Given the description of an element on the screen output the (x, y) to click on. 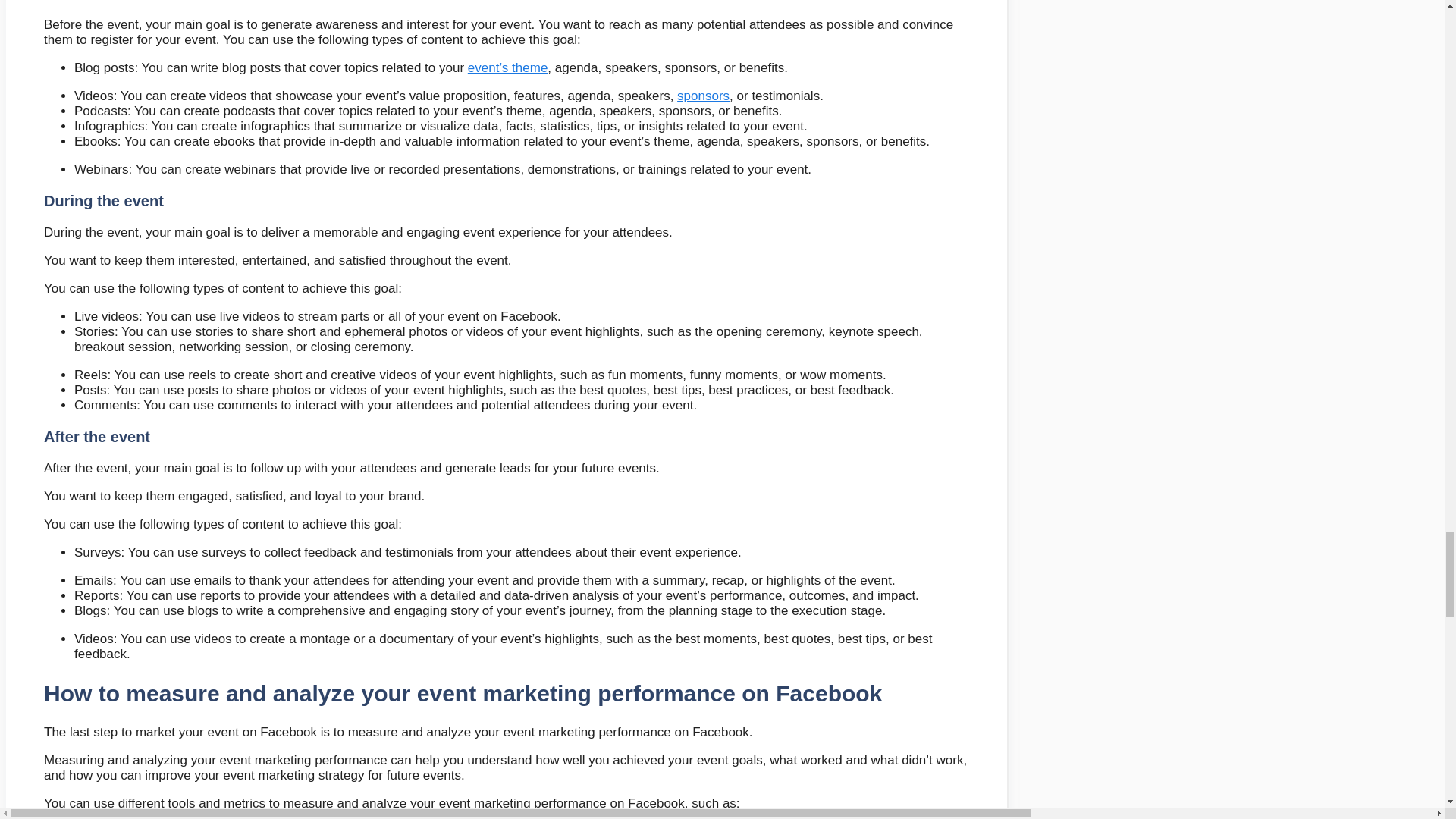
sponsors (703, 95)
